Given the description of an element on the screen output the (x, y) to click on. 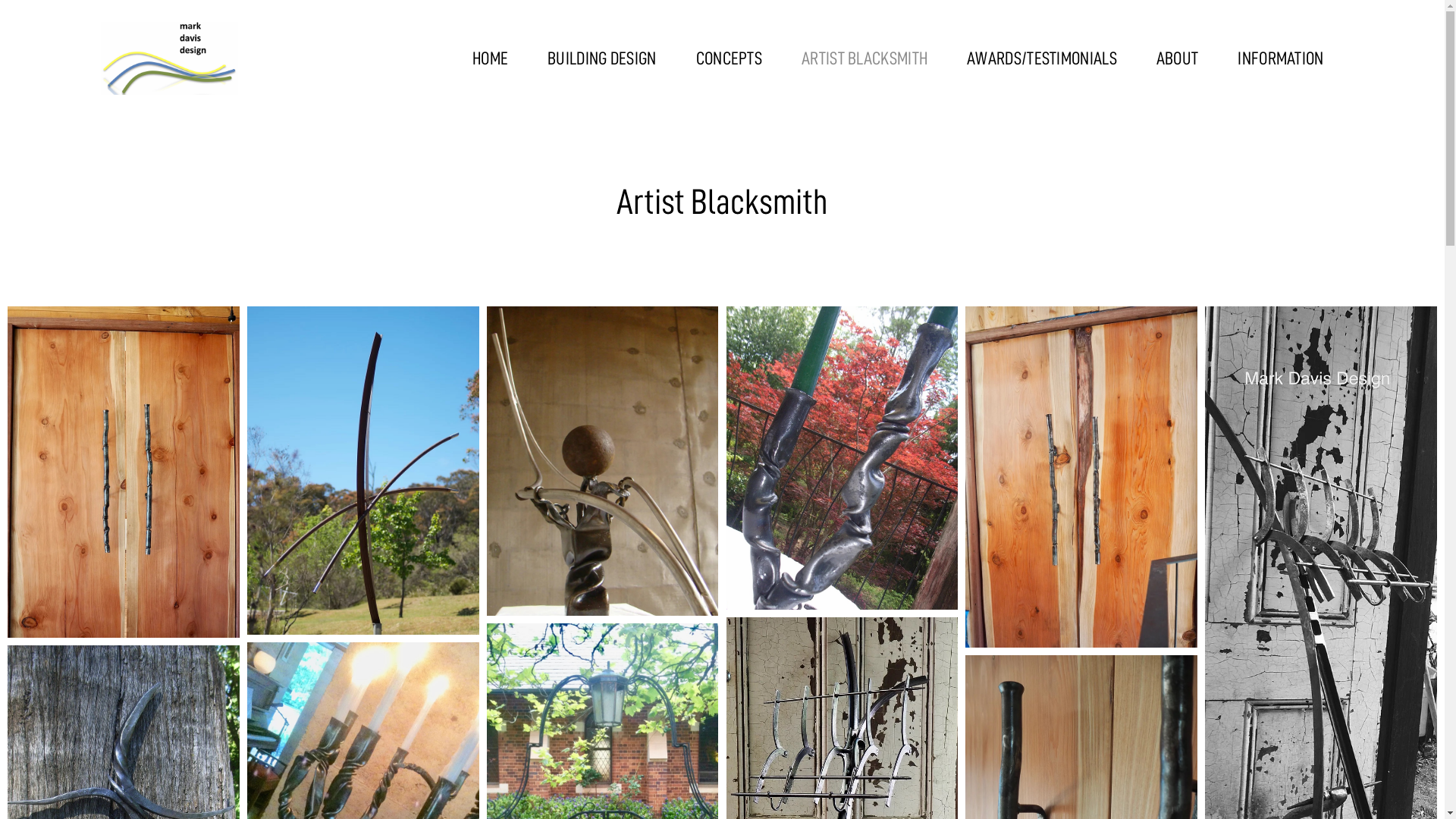
INFORMATION Element type: text (1280, 58)
CONCEPTS Element type: text (728, 58)
BUILDING DESIGN Element type: text (601, 58)
ARTIST BLACKSMITH Element type: text (864, 58)
AWARDS/TESTIMONIALS Element type: text (1041, 58)
HOME Element type: text (489, 58)
ABOUT Element type: text (1177, 58)
